Given the description of an element on the screen output the (x, y) to click on. 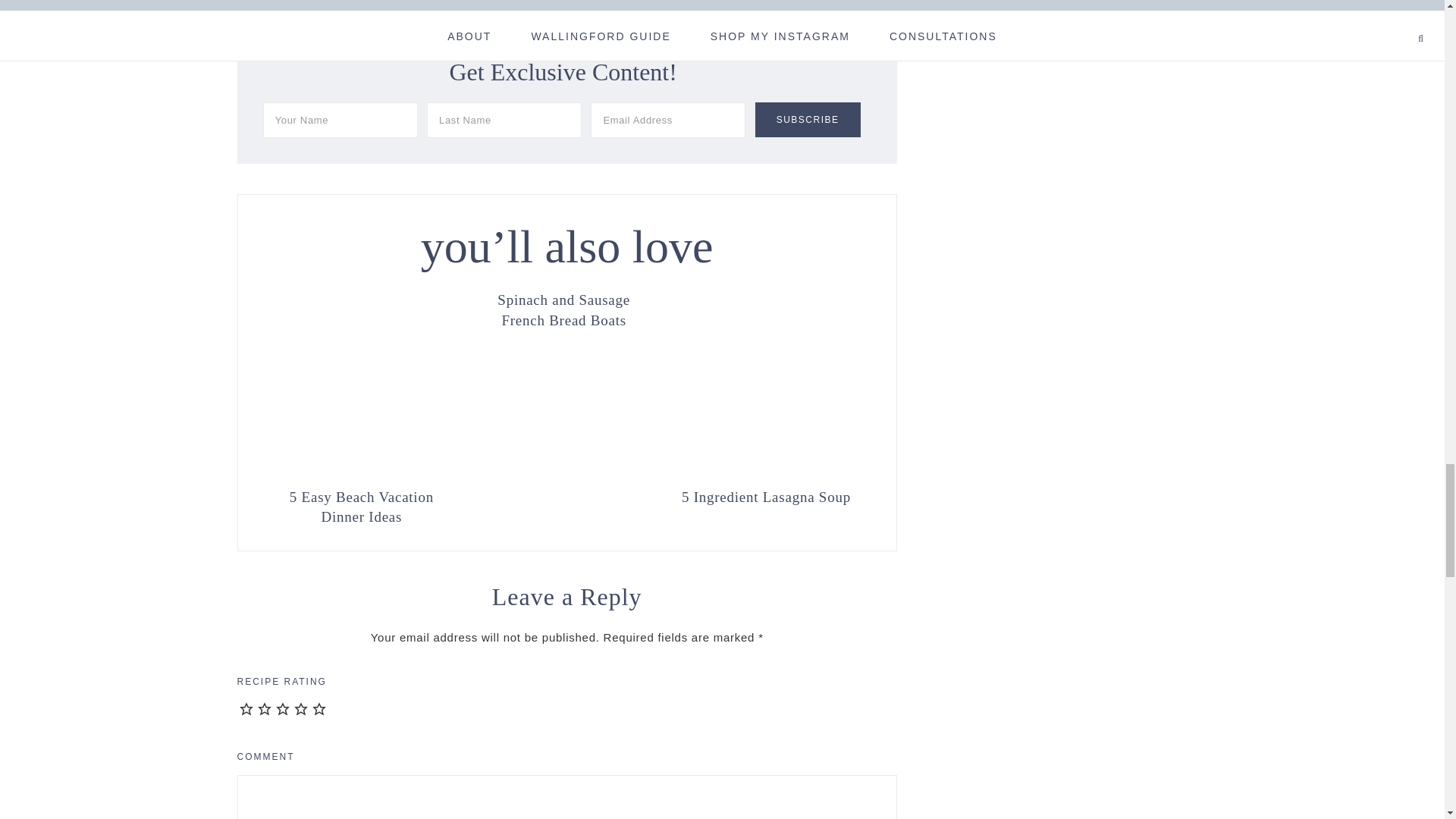
Permanent Link to 5 Ingredient Lasagna Soup (766, 495)
Permanent Link to 5 Easy Beach Vacation Dinner Ideas (361, 472)
Permanent Link to 5 Easy Beach Vacation Dinner Ideas (361, 505)
5 Easy Beach Vacation Dinner Ideas (361, 505)
Permanent Link to 5 Ingredient Lasagna Soup (766, 472)
Subscribe (807, 119)
Permanent Link to Spinach and Sausage French Bread Boats (563, 308)
5 Ingredient Lasagna Soup (766, 495)
Spinach and Sausage French Bread Boats (563, 308)
Subscribe (807, 119)
